Given the description of an element on the screen output the (x, y) to click on. 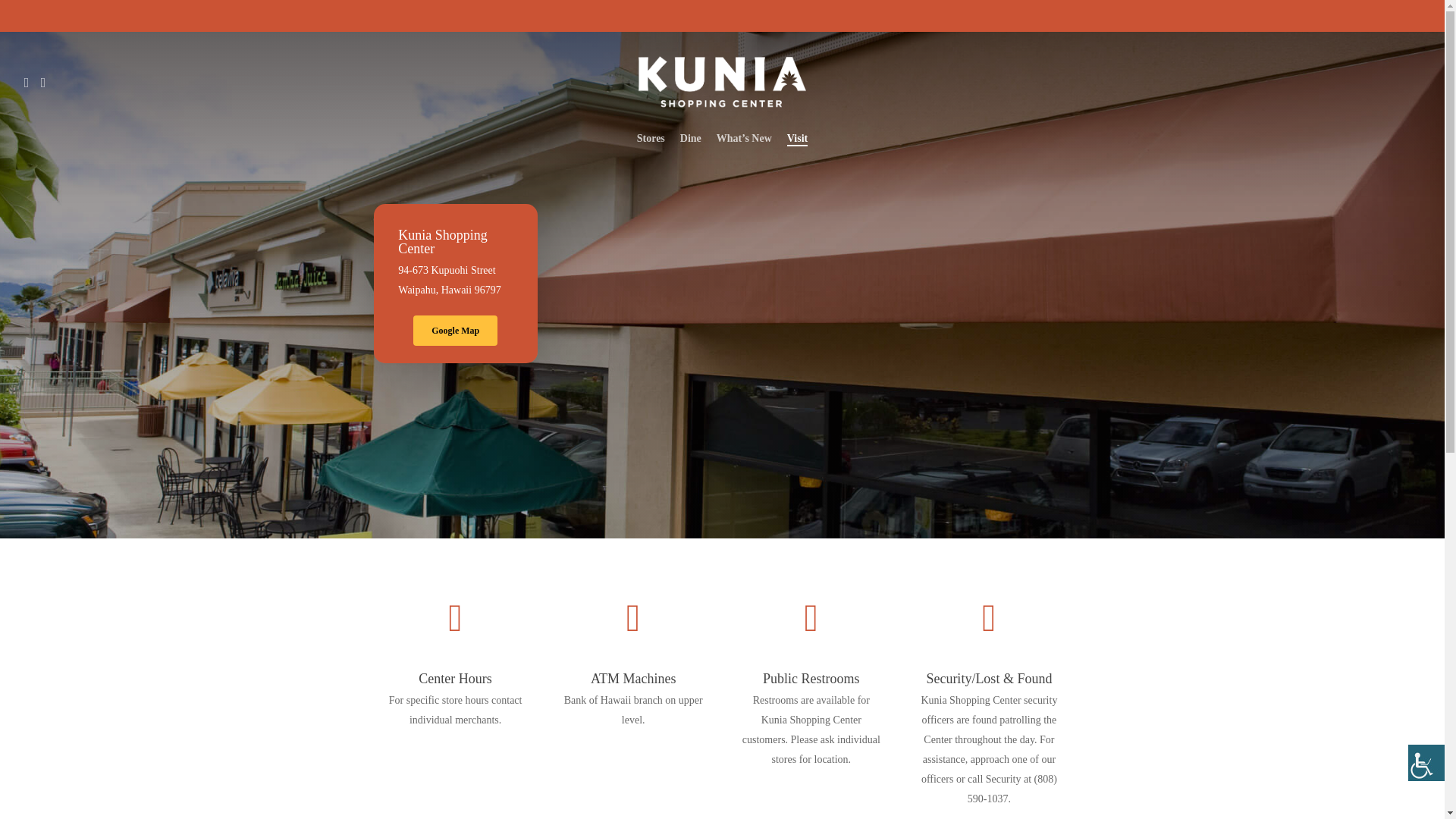
Accessibility Helper sidebar (1425, 762)
facebook (25, 81)
Google Map (455, 330)
instagram (42, 81)
